Given the description of an element on the screen output the (x, y) to click on. 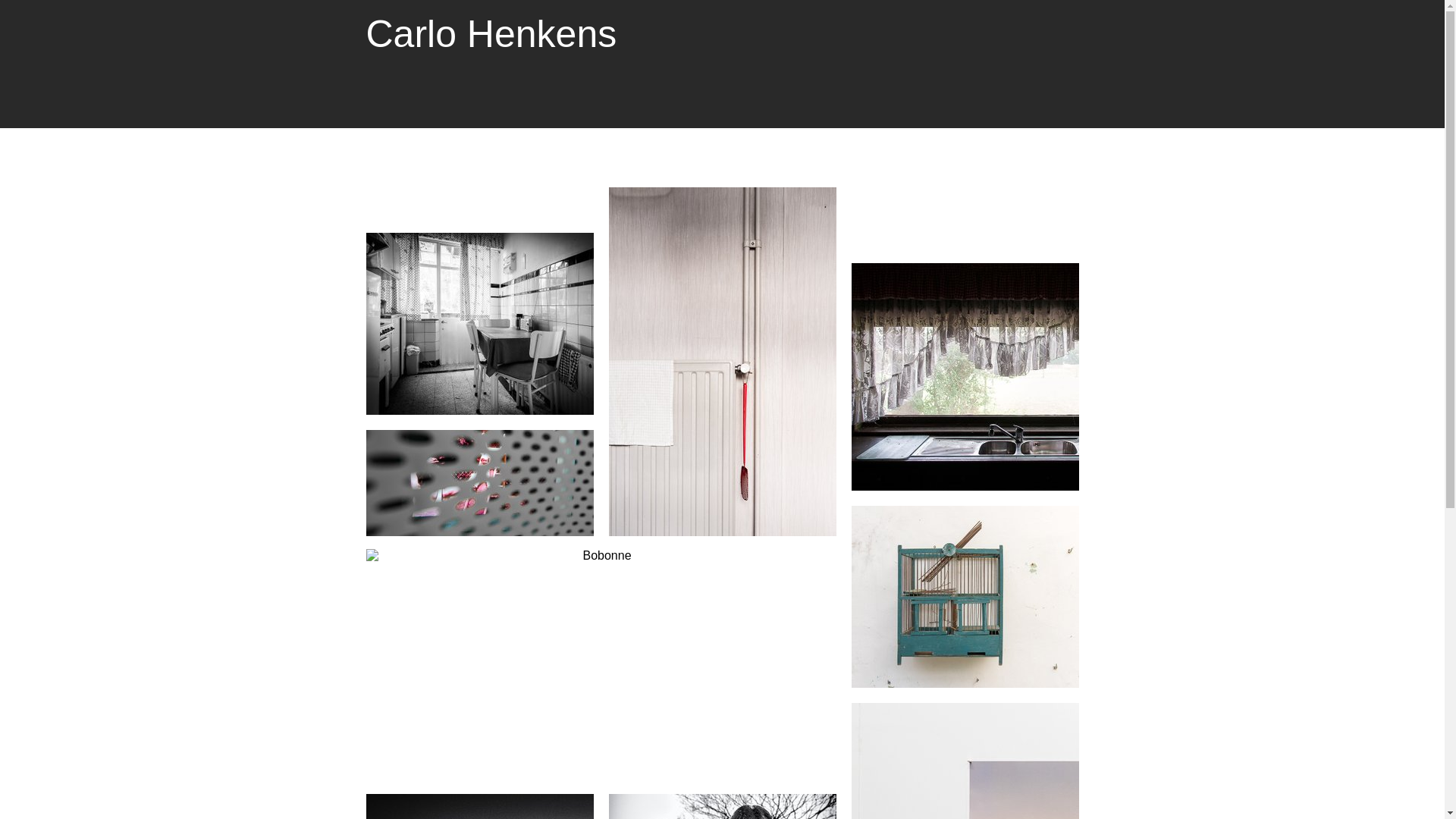
Carlo Henkens Element type: text (490, 33)
Bobonne Element type: hover (600, 662)
